Given the description of an element on the screen output the (x, y) to click on. 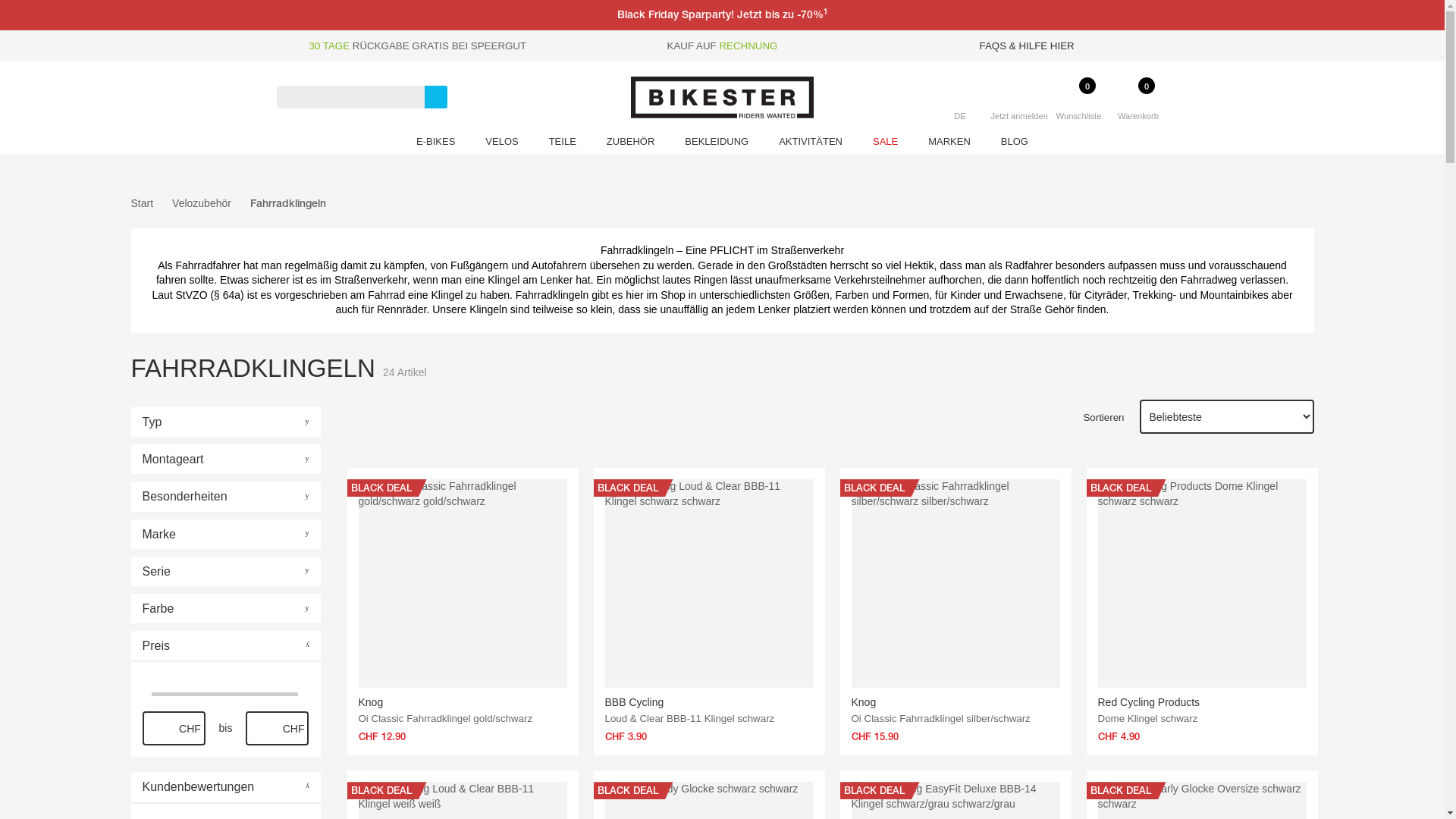
Knog Oi Classic Fahrradklingel gold/schwarz gold/schwarz Element type: hover (461, 583)
Red Cycling Products Dome Klingel schwarz Element type: text (1202, 611)
Wunschliste
0 Element type: text (1077, 111)
Start Element type: text (141, 203)
Knog Oi Classic Fahrradklingel gold/schwarz Element type: text (461, 611)
0
Warenkorb Element type: text (1137, 111)
VELOS Element type: text (501, 143)
SALE Element type: text (885, 143)
Red Cycling Products Dome Klingel schwarz schwarz Element type: hover (1202, 583)
Knog Oi Classic Fahrradklingel silber/schwarz silber/schwarz Element type: hover (954, 583)
BLOG Element type: text (1014, 143)
Knog Oi Classic Fahrradklingel silber/schwarz Element type: text (954, 611)
BBB Cycling Loud & Clear BBB-11 Klingel schwarz Element type: text (709, 611)
Velo Online Shop - bikester.ch Element type: hover (722, 97)
BEKLEIDUNG Element type: text (716, 143)
BBB Cycling Loud & Clear BBB-11 Klingel schwarz schwarz Element type: hover (709, 583)
E-BIKES Element type: text (435, 143)
TEILE Element type: text (562, 143)
FAQS & HILFE HIER Element type: text (1026, 45)
MARKEN Element type: text (949, 143)
Fahrradklingeln Element type: text (288, 203)
